Given the description of an element on the screen output the (x, y) to click on. 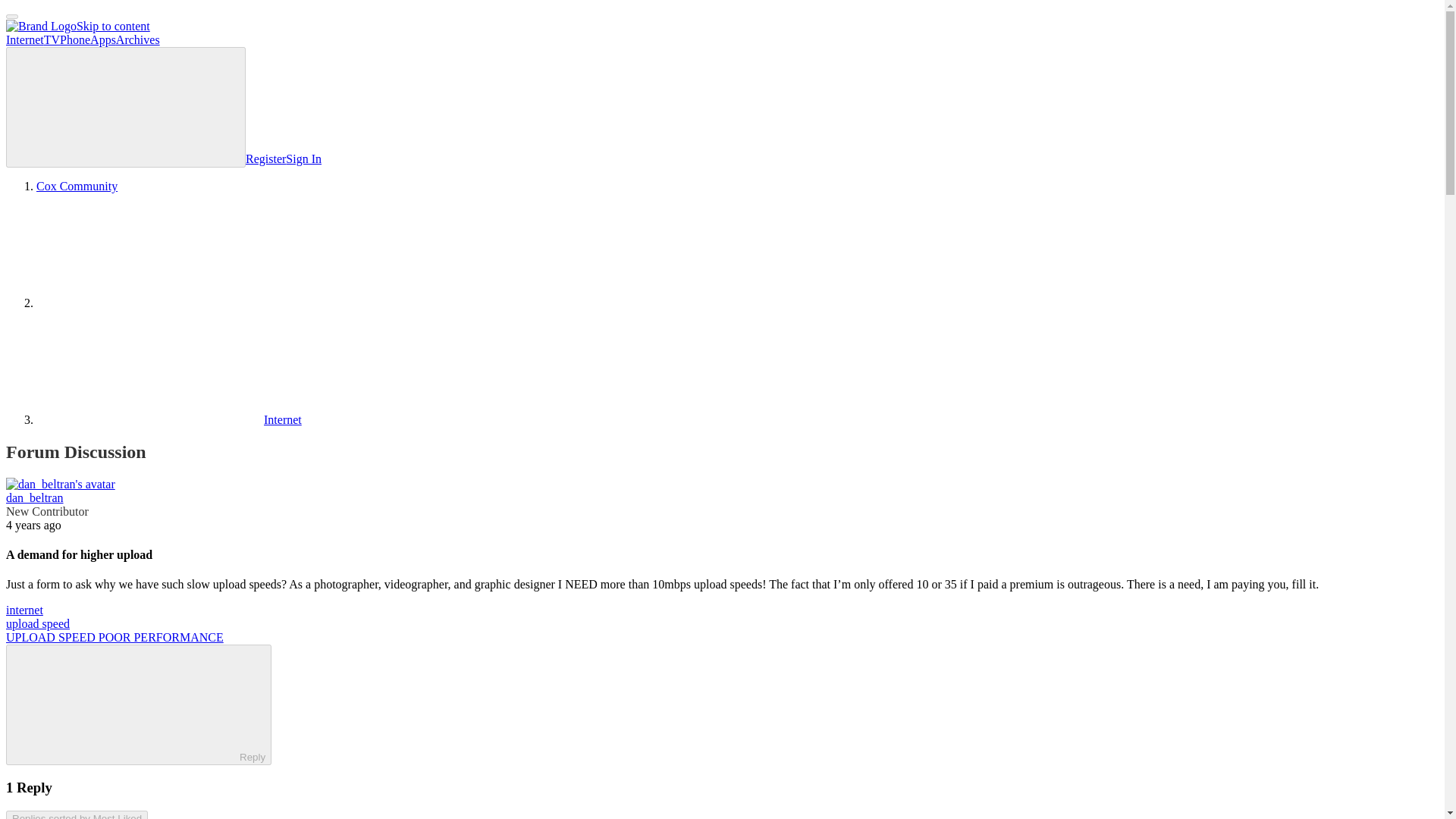
Archives (138, 39)
Search (125, 106)
Sign In (303, 158)
February 12, 2021 at 12:19 AM (33, 524)
UPLOAD SPEED POOR PERFORMANCE (114, 636)
Register (265, 158)
Cox Community (76, 185)
Apps (103, 39)
internet (24, 609)
ReplyReply (137, 704)
Reply (125, 703)
Internet (24, 39)
TV (51, 39)
Replies sorted by Most Liked (76, 814)
upload speed (37, 623)
